Given the description of an element on the screen output the (x, y) to click on. 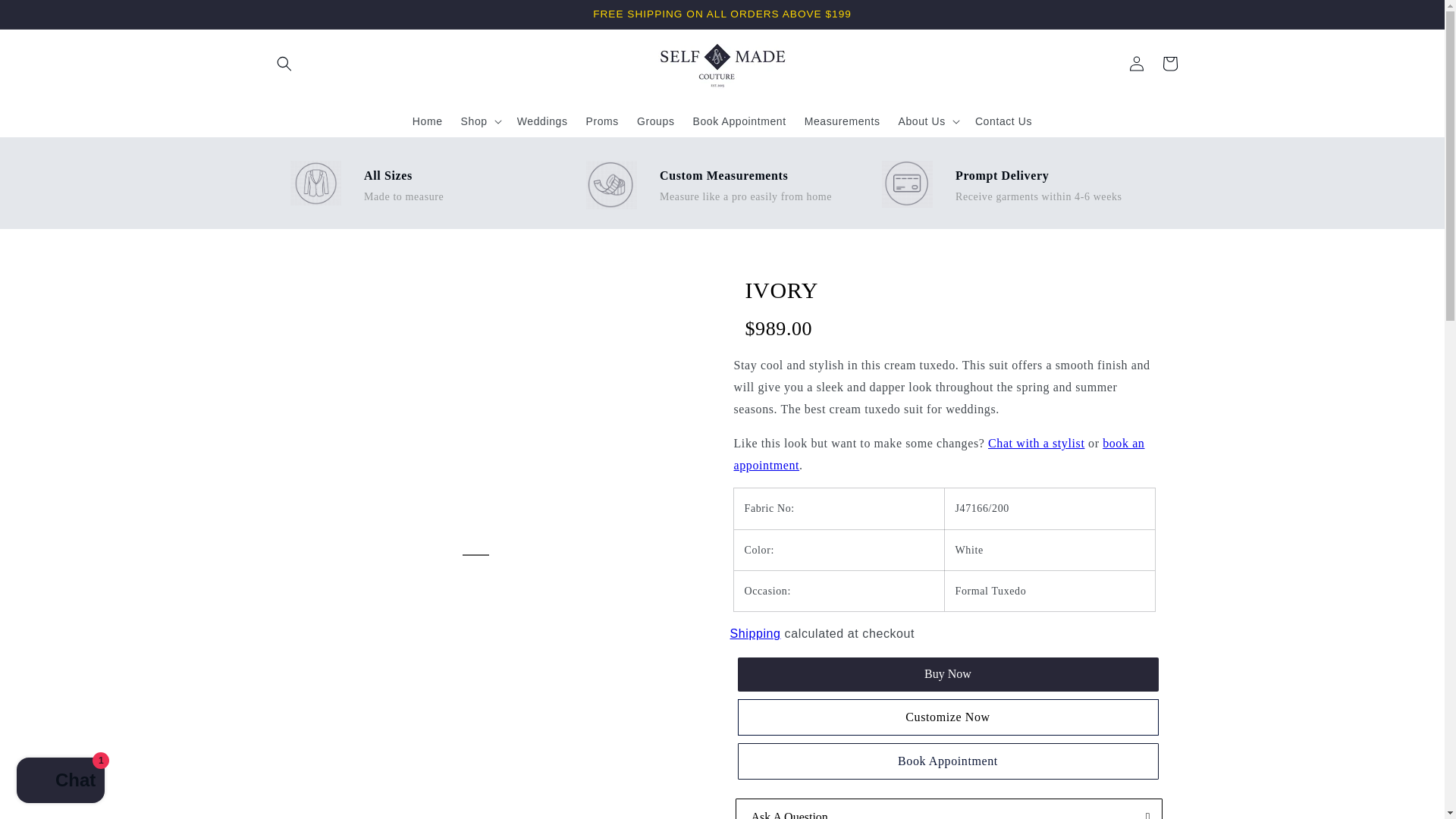
Skip to content (45, 17)
Shopify online store chat (60, 781)
Home (427, 121)
